Given the description of an element on the screen output the (x, y) to click on. 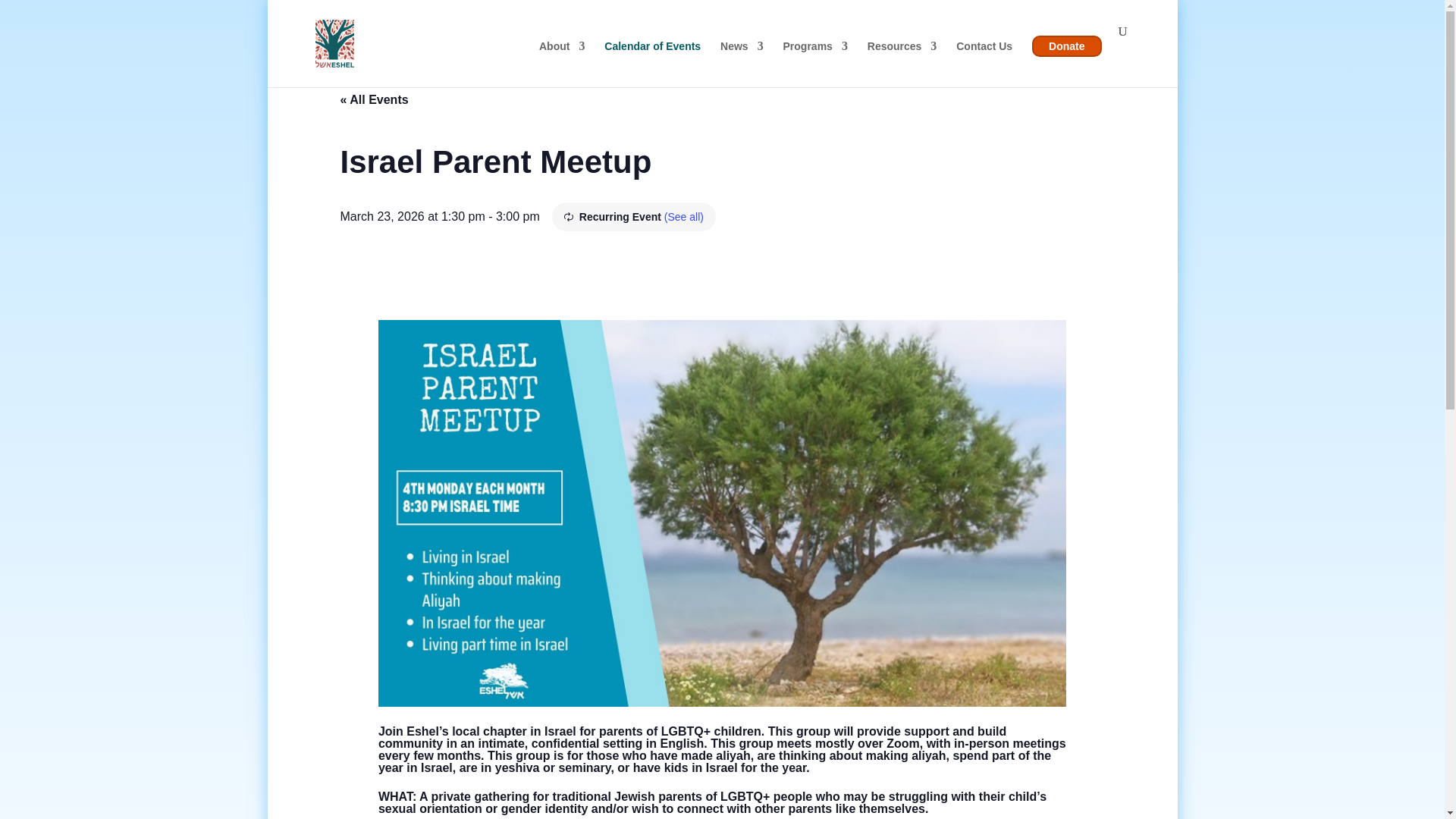
Programs (815, 58)
Calendar of Events (652, 58)
Resources (902, 58)
About (561, 58)
News (741, 58)
Contact Us (983, 58)
donate (1066, 46)
Donate (1066, 46)
